Given the description of an element on the screen output the (x, y) to click on. 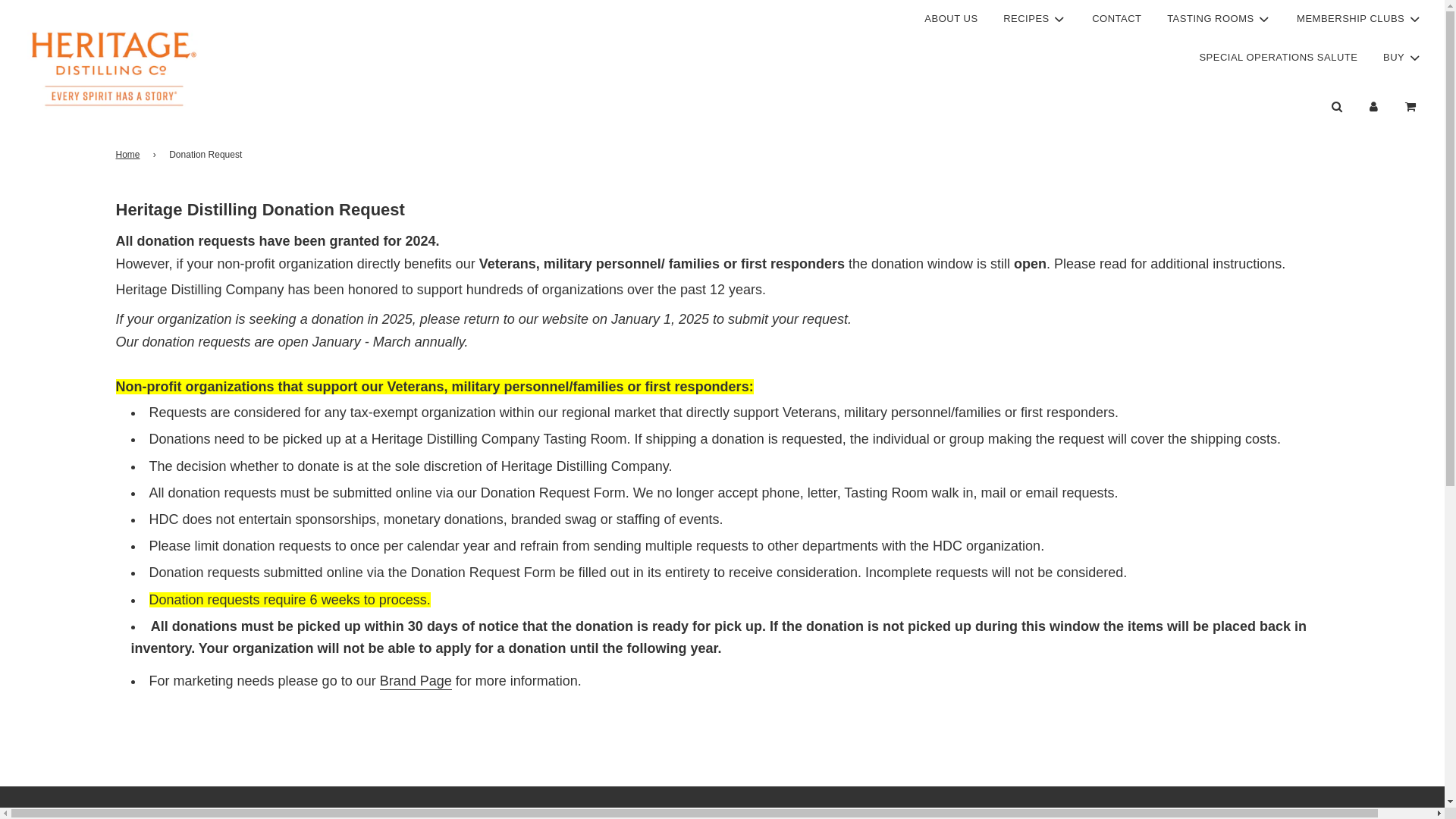
Log in (1373, 106)
Back to the frontpage (129, 155)
